Given the description of an element on the screen output the (x, y) to click on. 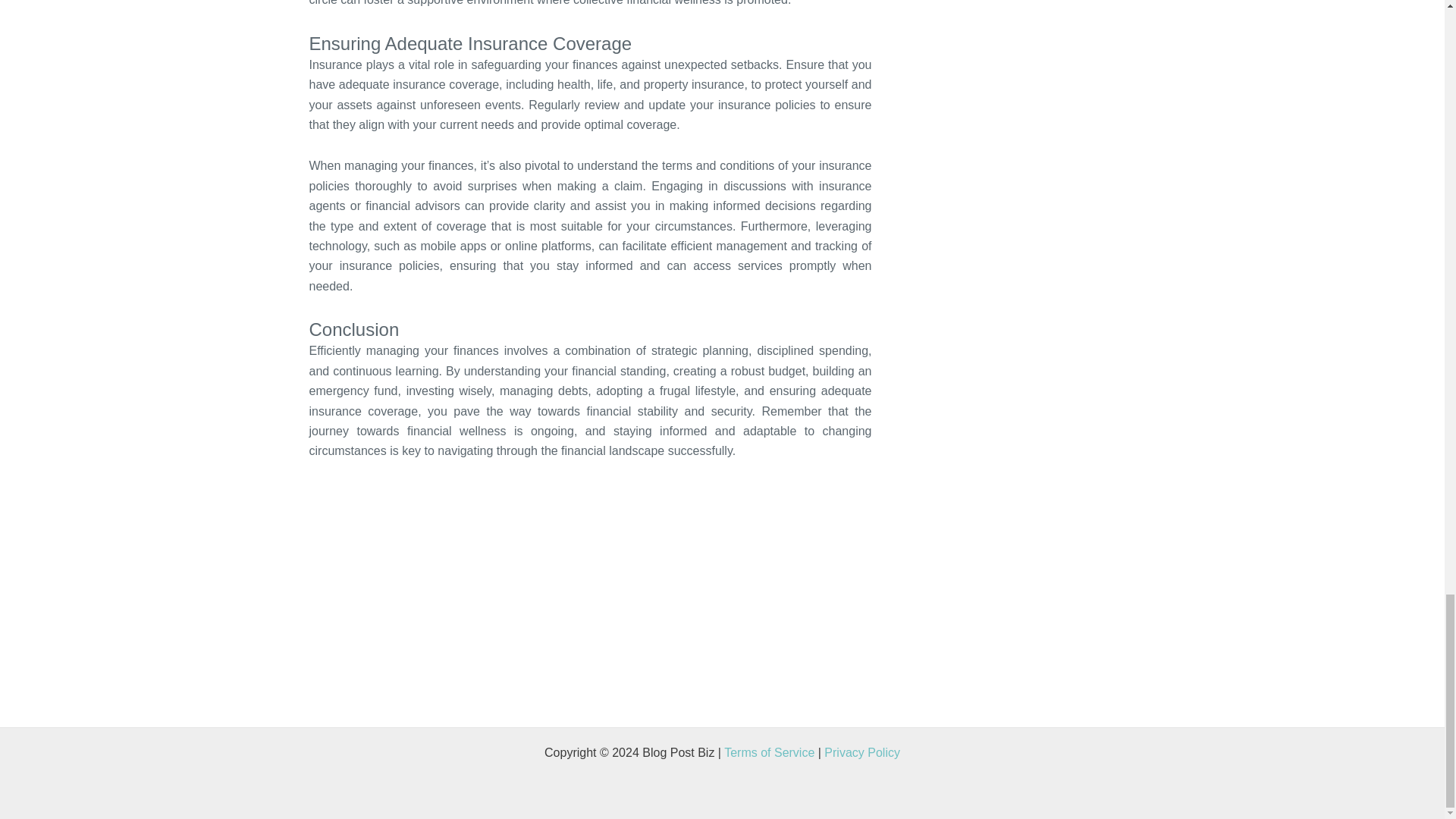
Advertisement (589, 623)
